Given the description of an element on the screen output the (x, y) to click on. 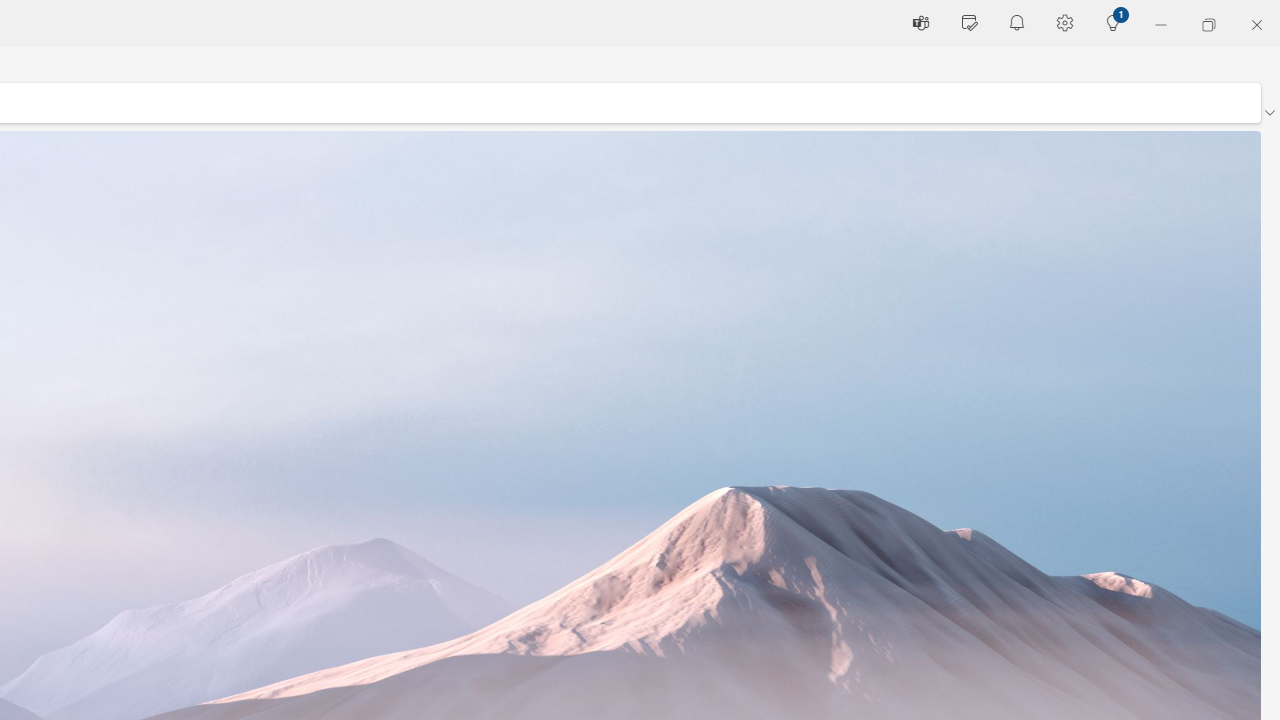
Ribbon display options (1269, 112)
